Given the description of an element on the screen output the (x, y) to click on. 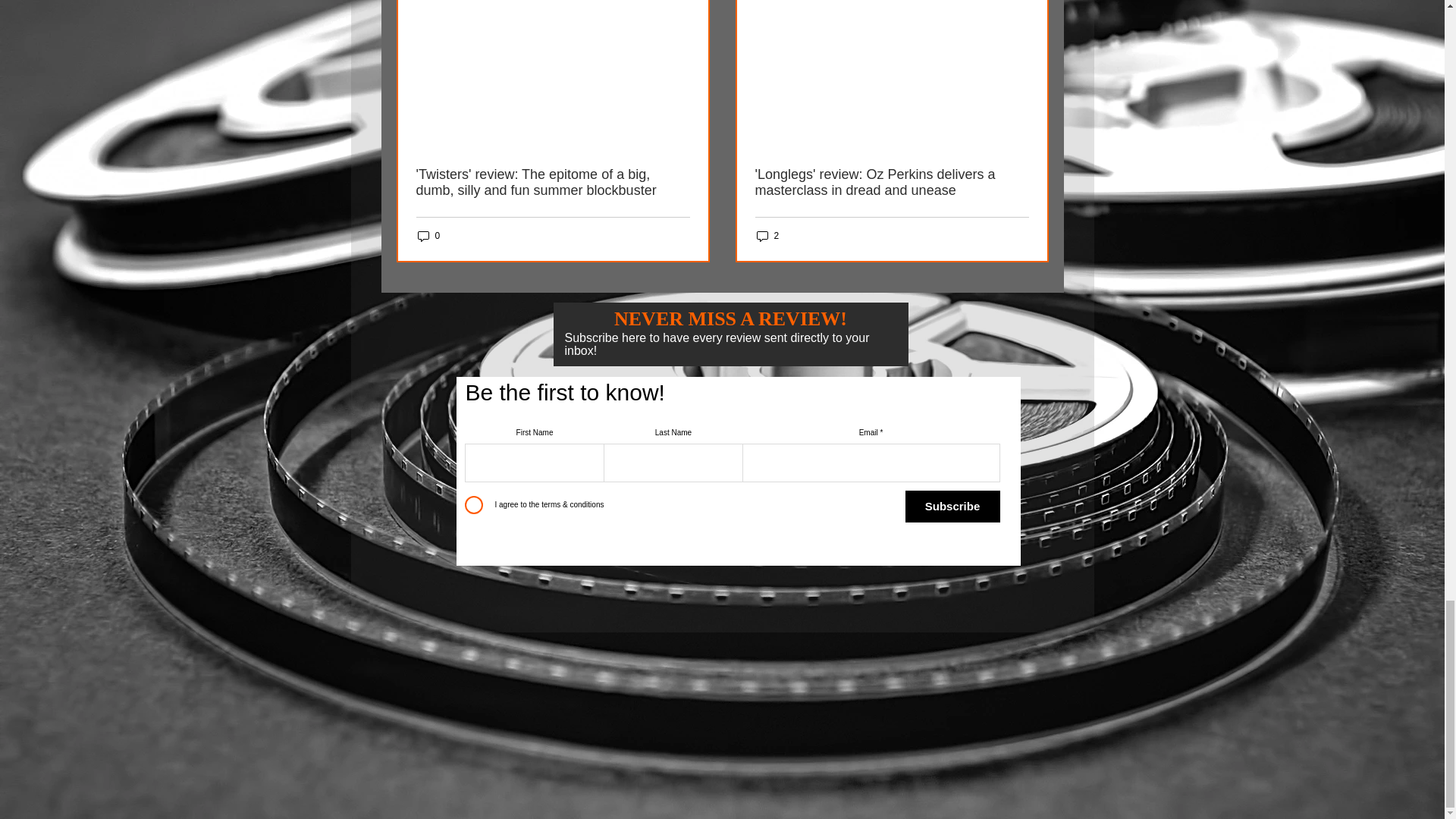
Subscribe (952, 506)
2 (767, 236)
0 (427, 236)
